Given the description of an element on the screen output the (x, y) to click on. 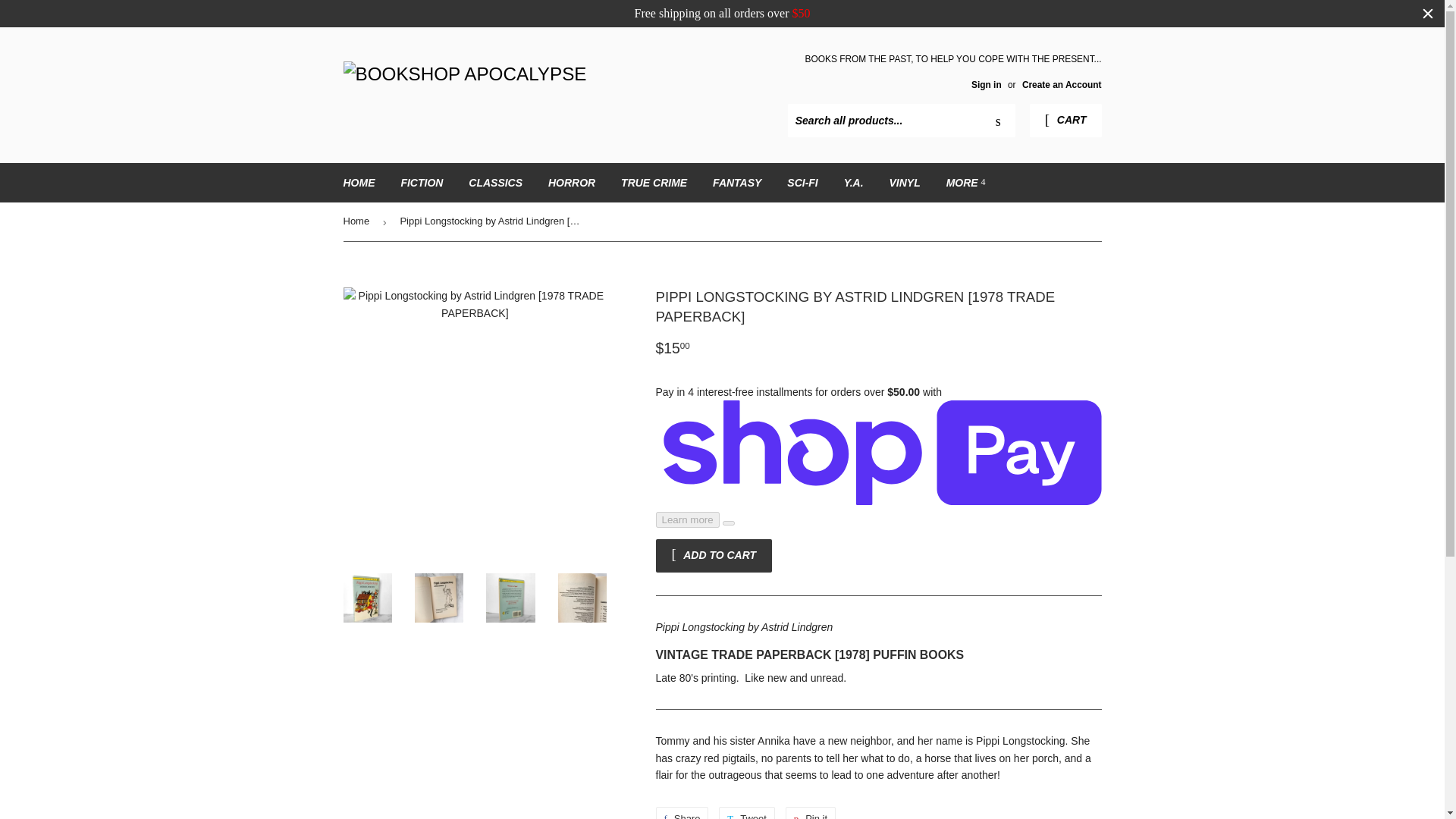
Pin on Pinterest (810, 812)
CART (1065, 120)
HOME (359, 182)
Search (997, 121)
Create an Account (1062, 84)
Share on Facebook (681, 812)
FICTION (421, 182)
CLASSICS (495, 182)
Tweet on Twitter (746, 812)
Sign in (986, 84)
